Given the description of an element on the screen output the (x, y) to click on. 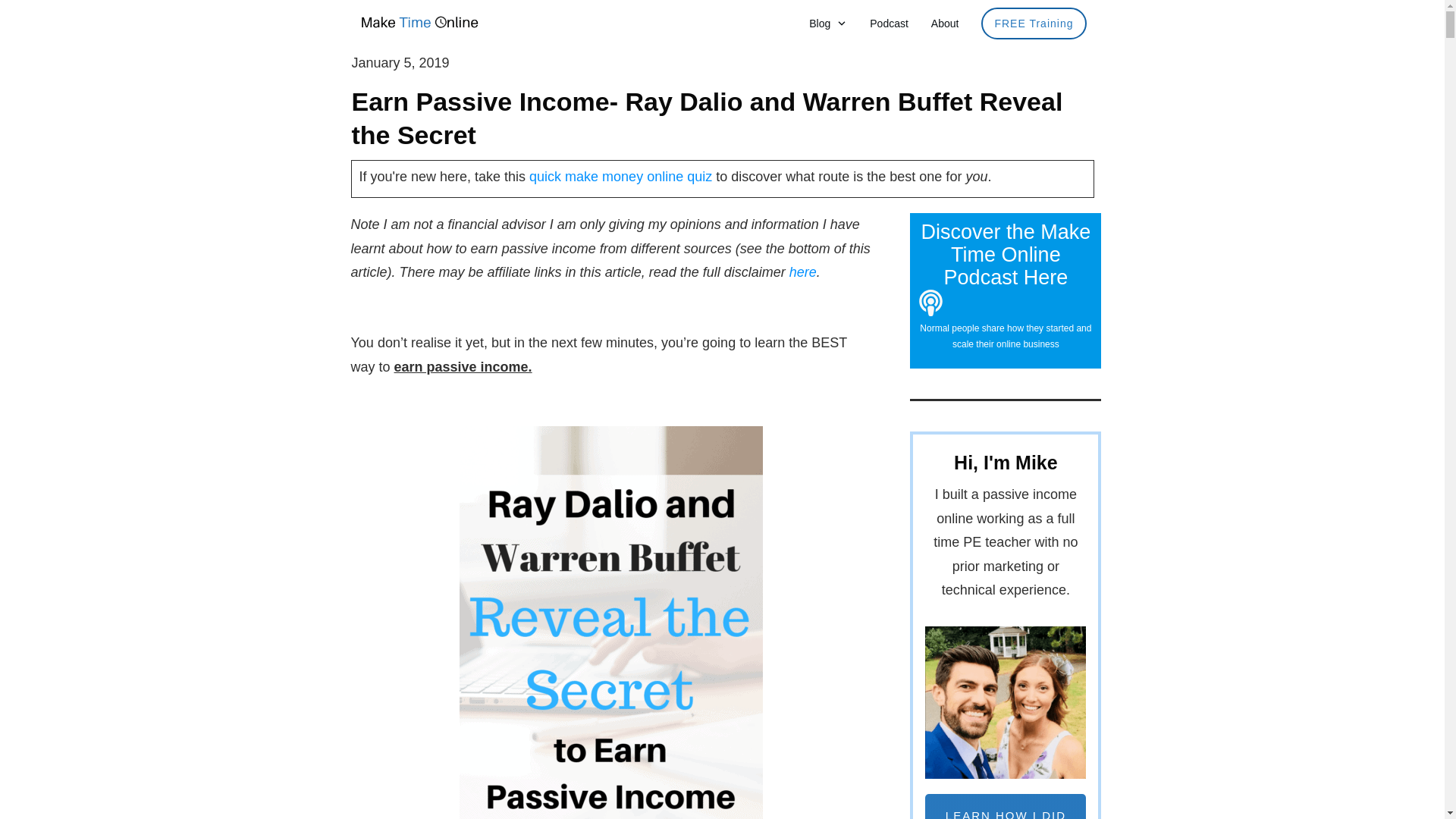
quick make money online quiz (620, 176)
Podcast (888, 23)
Blog (828, 23)
FREE Training (1033, 23)
About (945, 23)
here (802, 272)
